Given the description of an element on the screen output the (x, y) to click on. 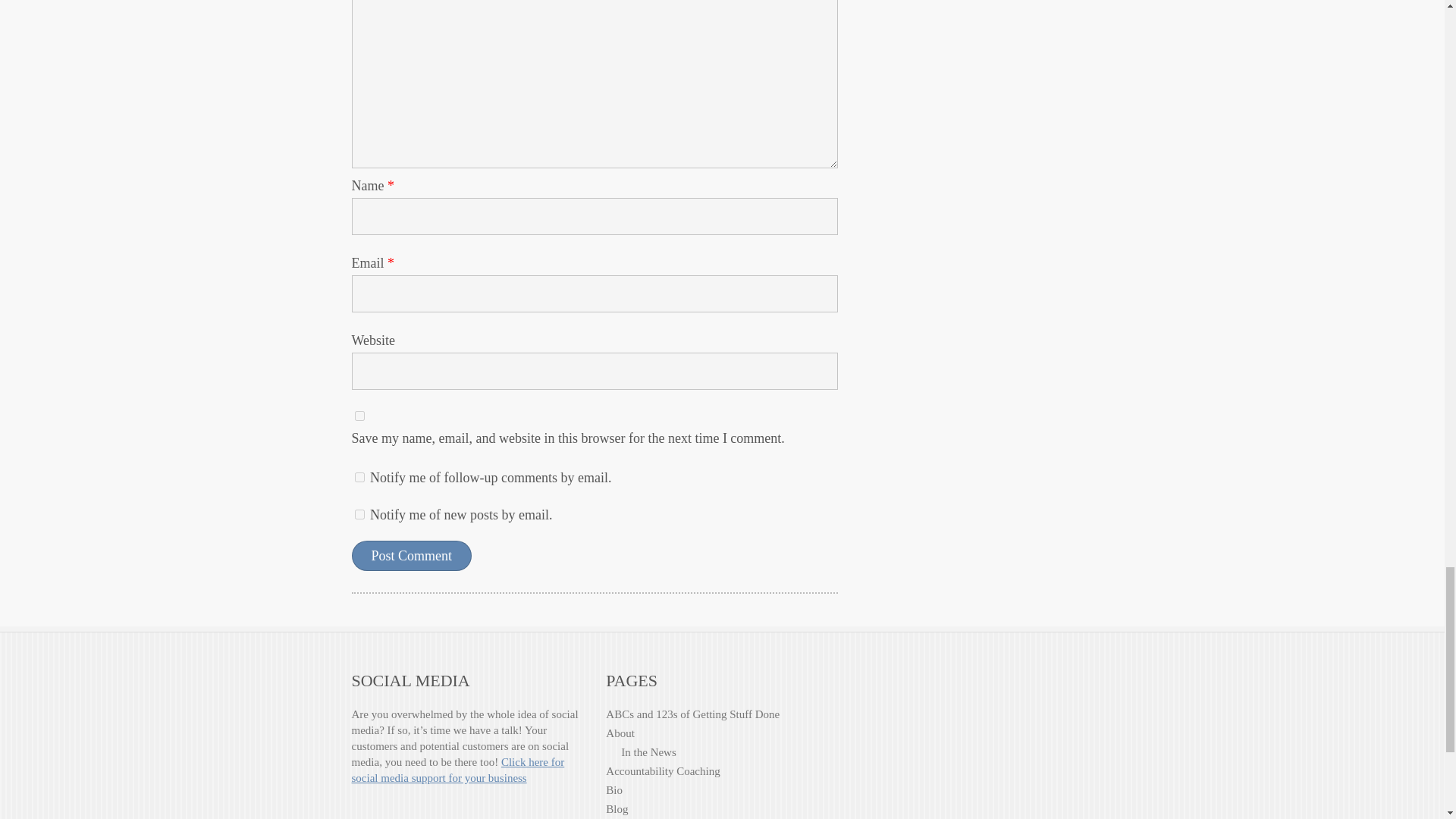
Post Comment (411, 555)
subscribe (360, 477)
yes (360, 415)
subscribe (360, 514)
